Given the description of an element on the screen output the (x, y) to click on. 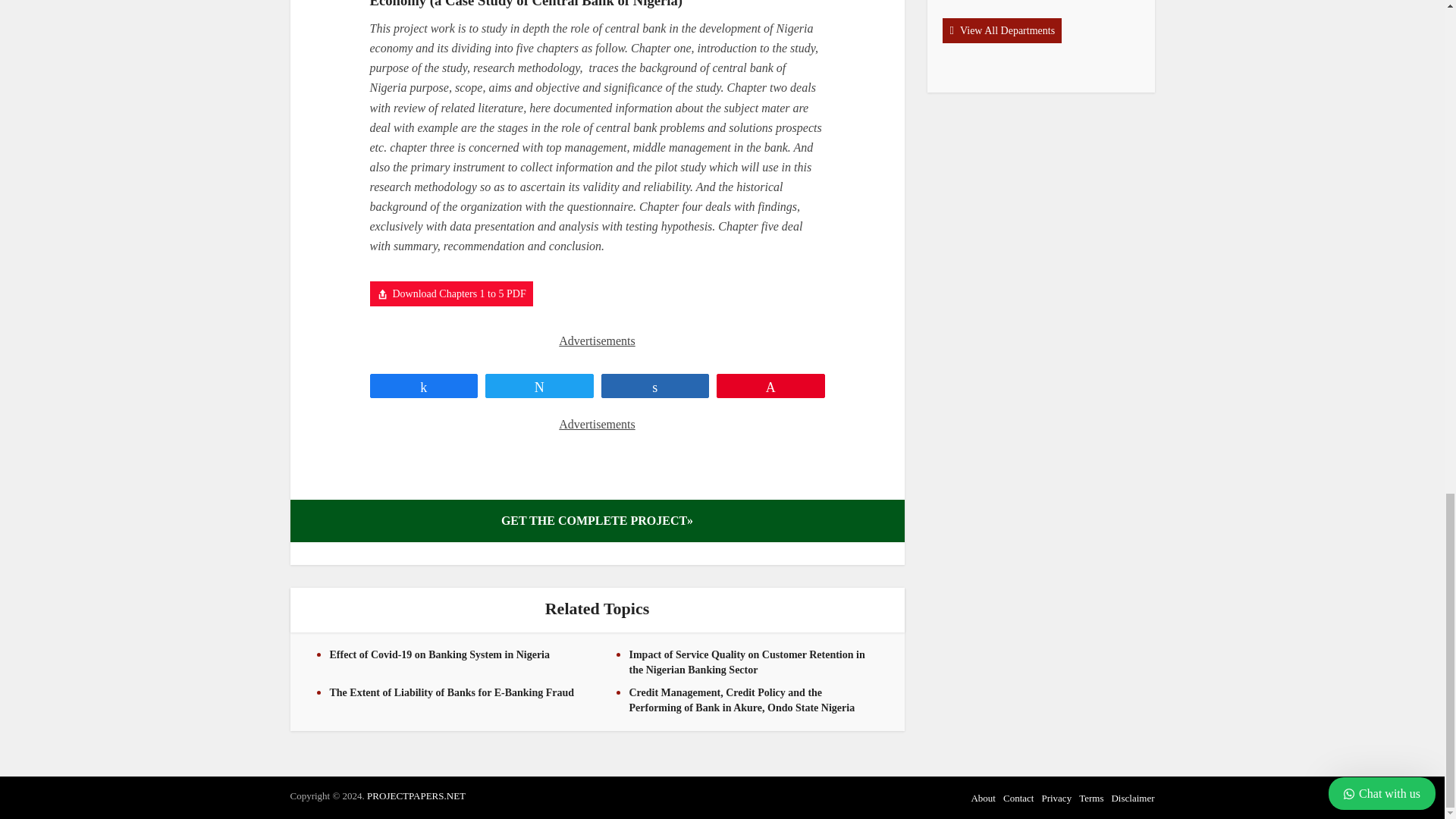
Effect of Covid-19 on Banking System in Nigeria (439, 654)
Download Chapters 1 to 5 PDF (450, 293)
The Extent of Liability of Banks for E-Banking Fraud (451, 692)
Effect of Covid-19 on Banking System in Nigeria (439, 654)
The Extent of Liability of Banks for E-Banking Fraud (451, 692)
